Given the description of an element on the screen output the (x, y) to click on. 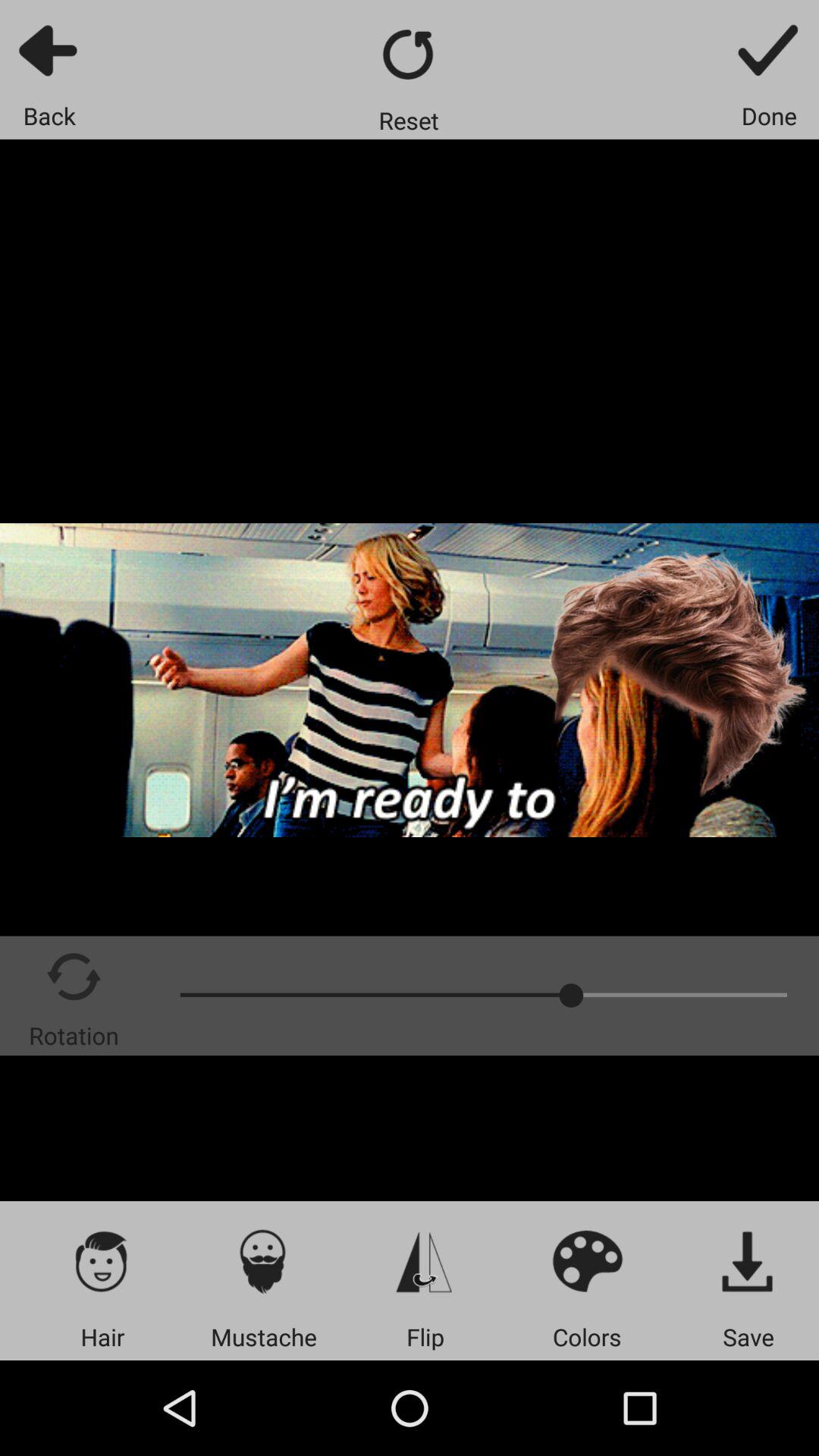
save content (748, 1260)
